Given the description of an element on the screen output the (x, y) to click on. 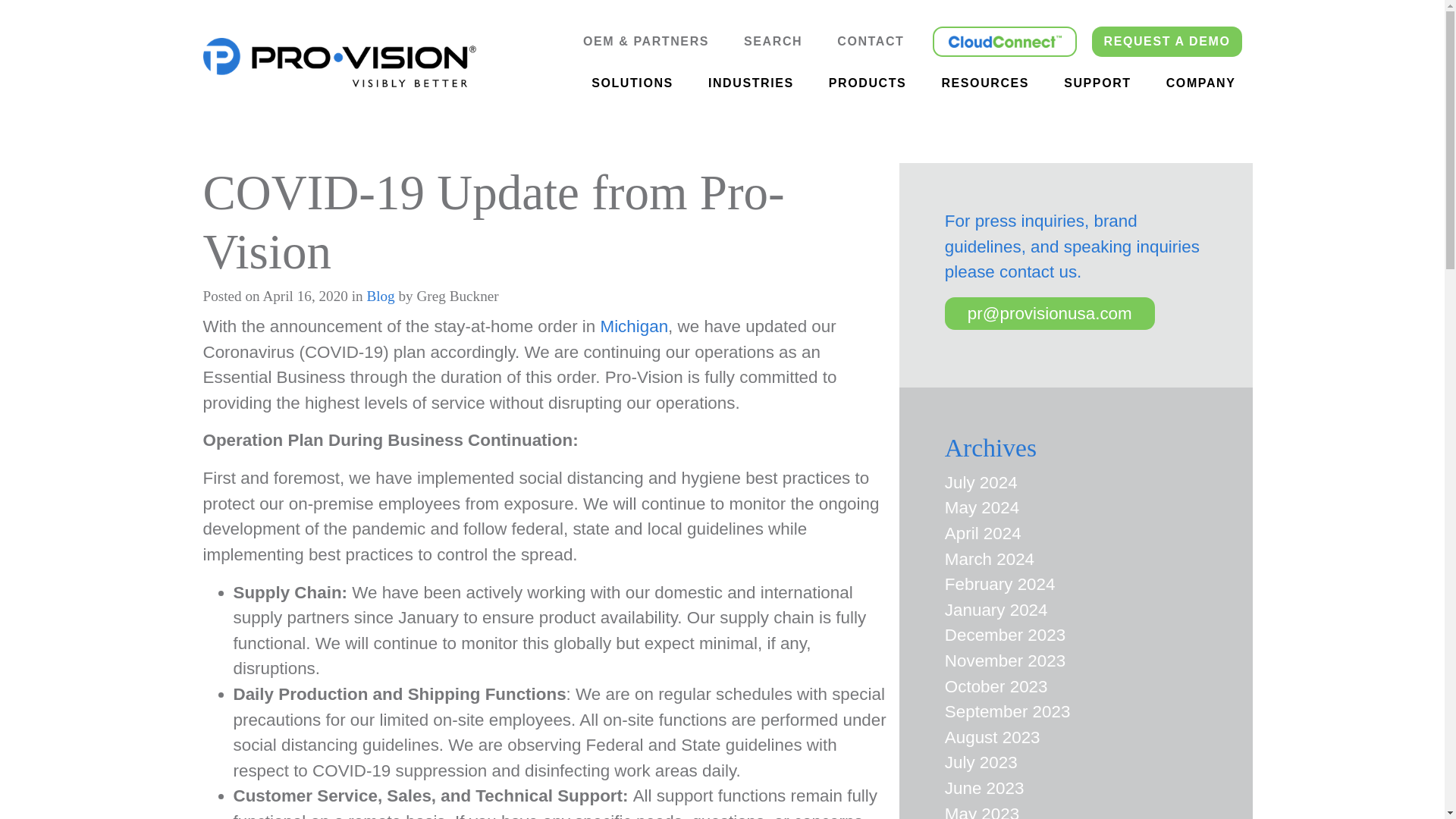
CONTACT (870, 41)
SUPPORT (1097, 82)
INDUSTRIES (750, 82)
Pro-Vision (339, 61)
SEARCH (773, 41)
COMPANY (1200, 82)
RESOURCES (984, 82)
LOGIN (1005, 41)
SOLUTIONS (632, 82)
REQUEST A DEMO (1166, 41)
